Given the description of an element on the screen output the (x, y) to click on. 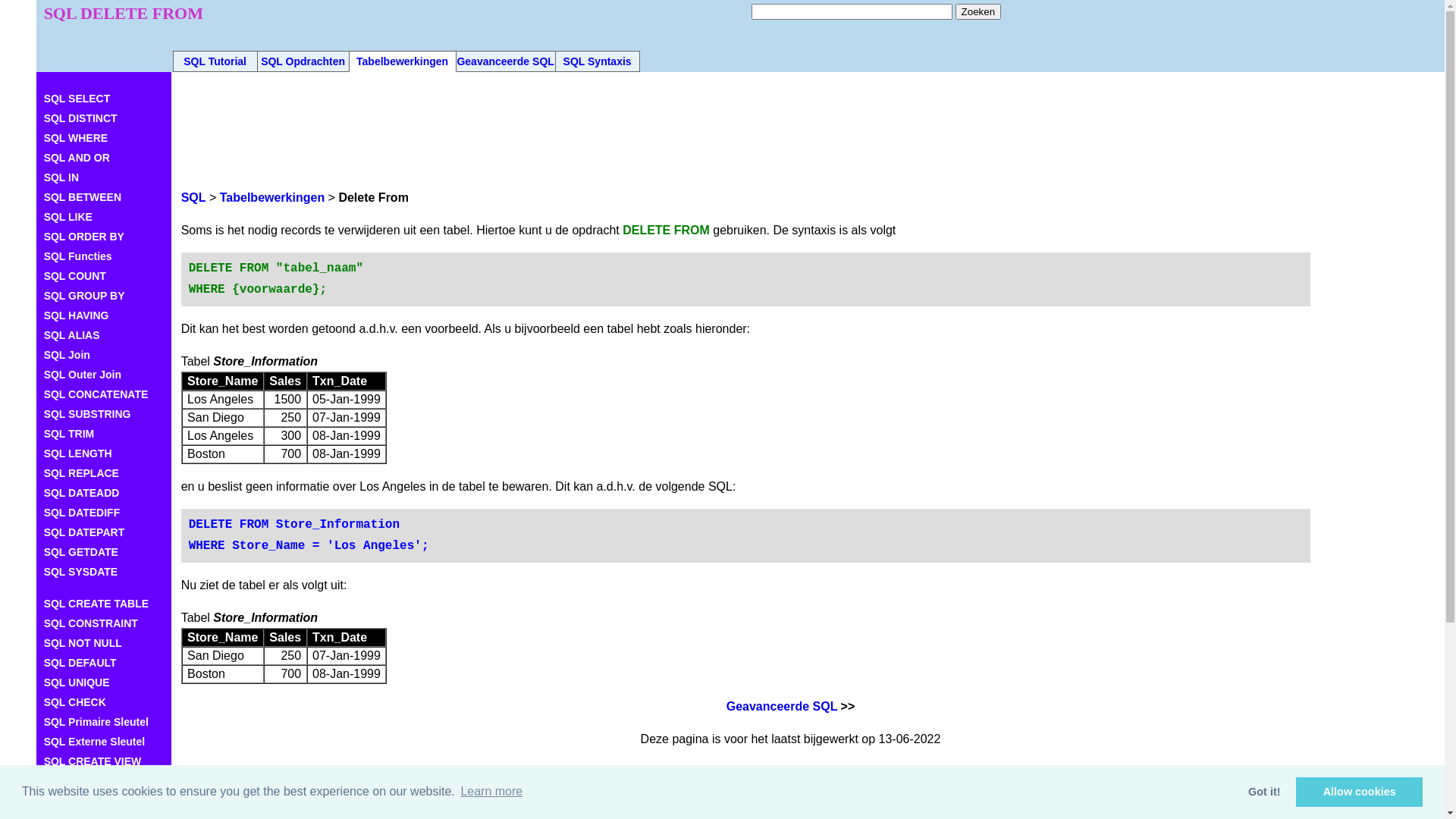
SQL SELECT Element type: text (103, 98)
SQL SUBSTRING Element type: text (103, 413)
SQL BETWEEN Element type: text (103, 197)
SQL Primaire Sleutel Element type: text (103, 721)
SQL CREATE INDEX Element type: text (103, 780)
SQL DISTINCT Element type: text (103, 118)
SQL HAVING Element type: text (103, 315)
SQL WHERE Element type: text (103, 137)
SQL CONSTRAINT Element type: text (103, 623)
SQL LIKE Element type: text (103, 216)
SQL NOT NULL Element type: text (103, 642)
Learn more Element type: text (491, 791)
SQL CHECK Element type: text (103, 702)
SQL IN Element type: text (103, 177)
Allow cookies Element type: text (1358, 791)
SQL ALIAS Element type: text (103, 335)
SQL CONCATENATE Element type: text (103, 394)
SQL UNIQUE Element type: text (103, 682)
SQL Outer Join Element type: text (103, 374)
SQL DATEPART Element type: text (103, 532)
SQL COUNT Element type: text (103, 275)
SQL Tutorial Element type: text (214, 61)
SQL DATEDIFF Element type: text (103, 512)
Zoeken Element type: text (978, 11)
SQL SYSDATE Element type: text (103, 571)
Tabelbewerkingen Element type: text (402, 61)
SQL Opdrachten Element type: text (302, 61)
SQL DATEADD Element type: text (103, 492)
SQL GETDATE Element type: text (103, 551)
Geavanceerde SQL Element type: text (781, 705)
SQL GROUP BY Element type: text (103, 295)
SQL ORDER BY Element type: text (103, 236)
SQL CREATE VIEW Element type: text (103, 761)
Tabelbewerkingen Element type: text (271, 197)
SQL CREATE TABLE Element type: text (103, 603)
SQL TRIM Element type: text (103, 433)
Geavanceerde SQL Element type: text (504, 61)
SQL DEFAULT Element type: text (103, 662)
SQL AND OR Element type: text (103, 157)
SQL LENGTH Element type: text (103, 453)
SQL REPLACE Element type: text (103, 473)
SQL Functies Element type: text (103, 256)
SQL Join Element type: text (103, 354)
Got it! Element type: text (1264, 791)
SQL Syntaxis Element type: text (597, 61)
SQL Element type: text (193, 197)
SQL ALTER TABLE Element type: text (103, 800)
SQL Externe Sleutel Element type: text (103, 741)
